Given the description of an element on the screen output the (x, y) to click on. 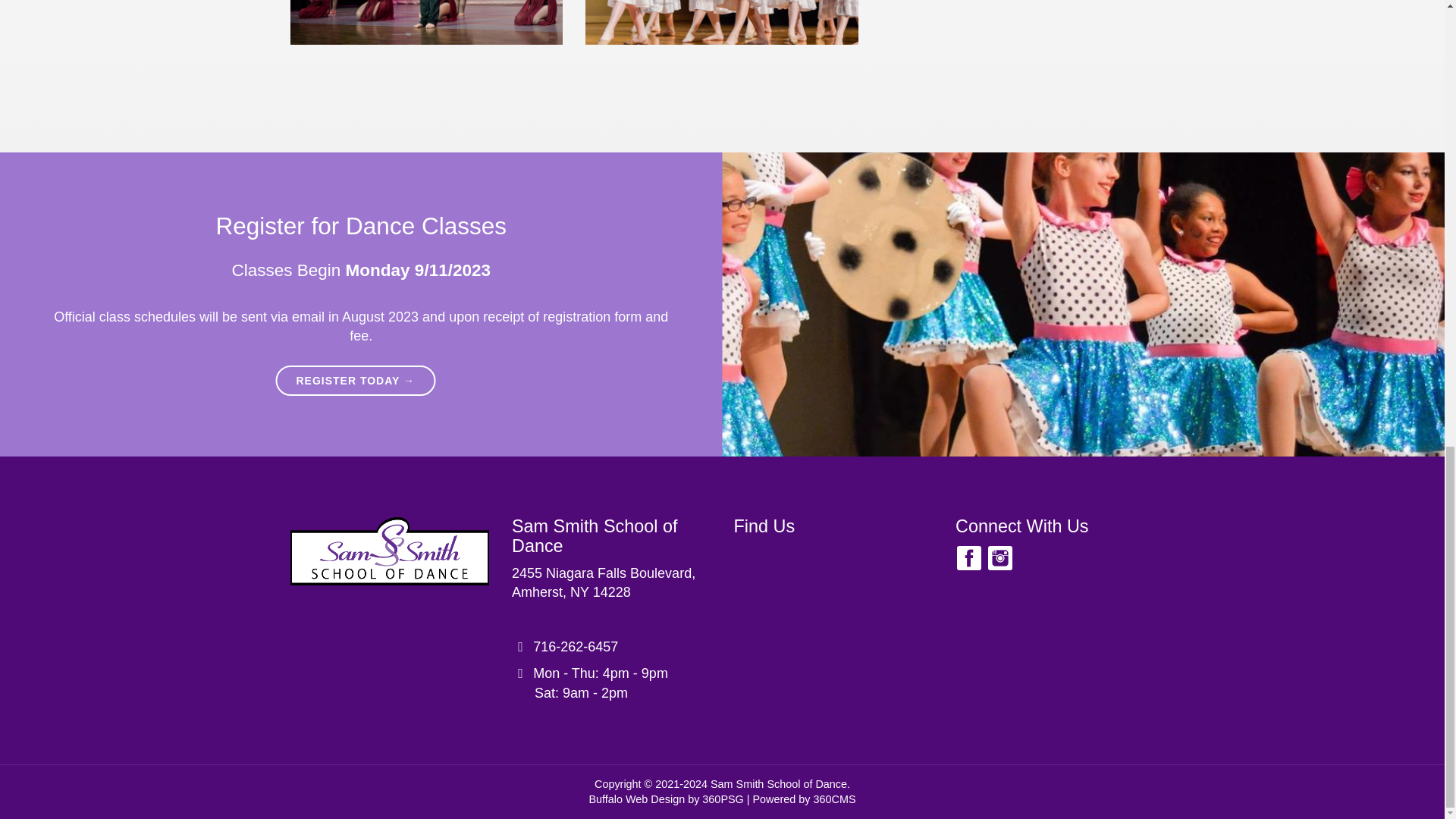
Buffalo Web Design (636, 799)
Facebook (603, 582)
Sam Smith School of Dance (968, 558)
716-262-6457 (594, 536)
